Given the description of an element on the screen output the (x, y) to click on. 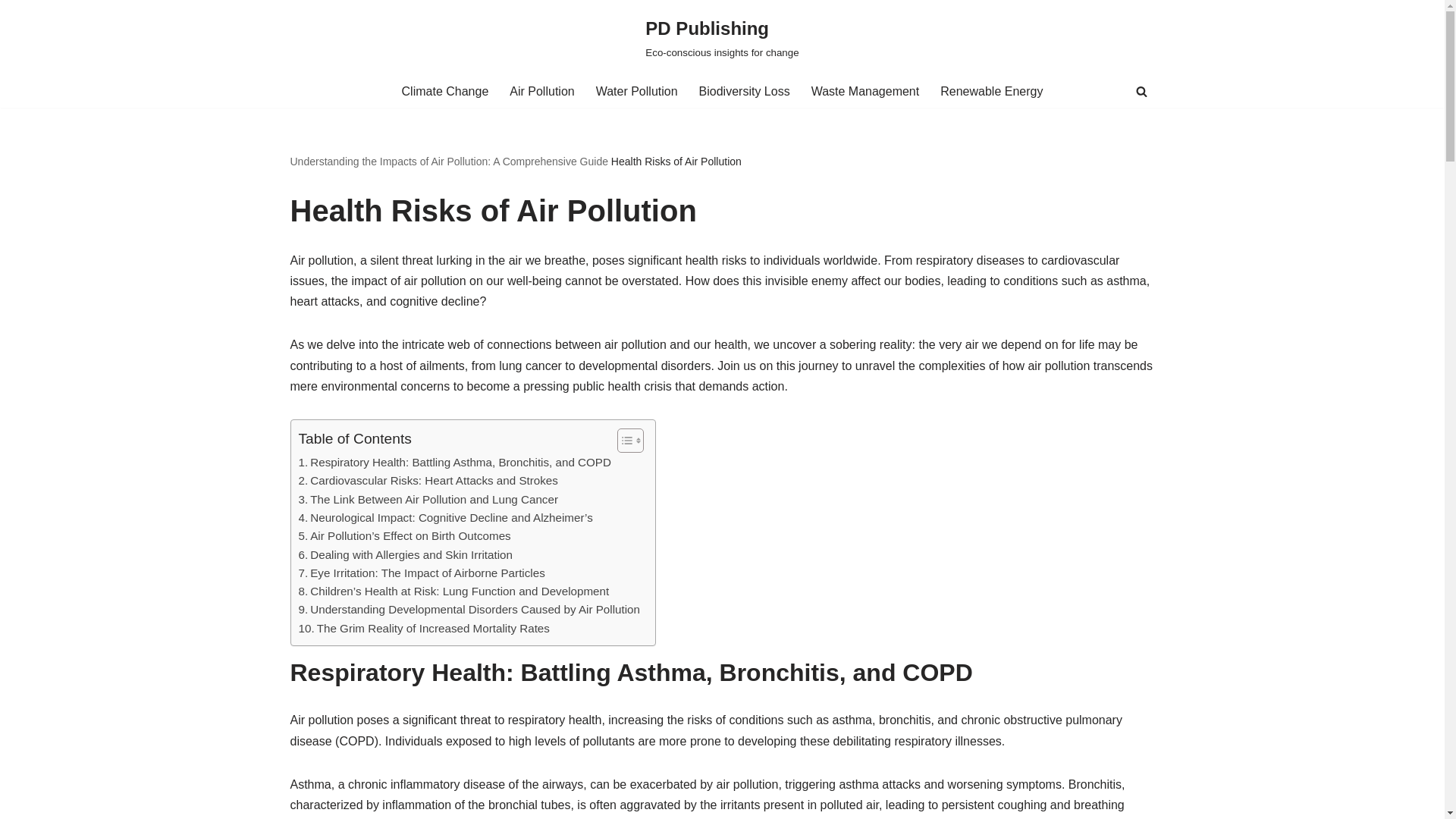
Cardiovascular Risks: Heart Attacks and Strokes (427, 480)
Dealing with Allergies and Skin Irritation (405, 555)
Biodiversity Loss (744, 91)
Climate Change (445, 91)
Cardiovascular Risks: Heart Attacks and Strokes (427, 480)
Water Pollution (636, 91)
Respiratory Health: Battling Asthma, Bronchitis, and COPD (454, 462)
Eye Irritation: The Impact of Airborne Particles (421, 573)
